Given the description of an element on the screen output the (x, y) to click on. 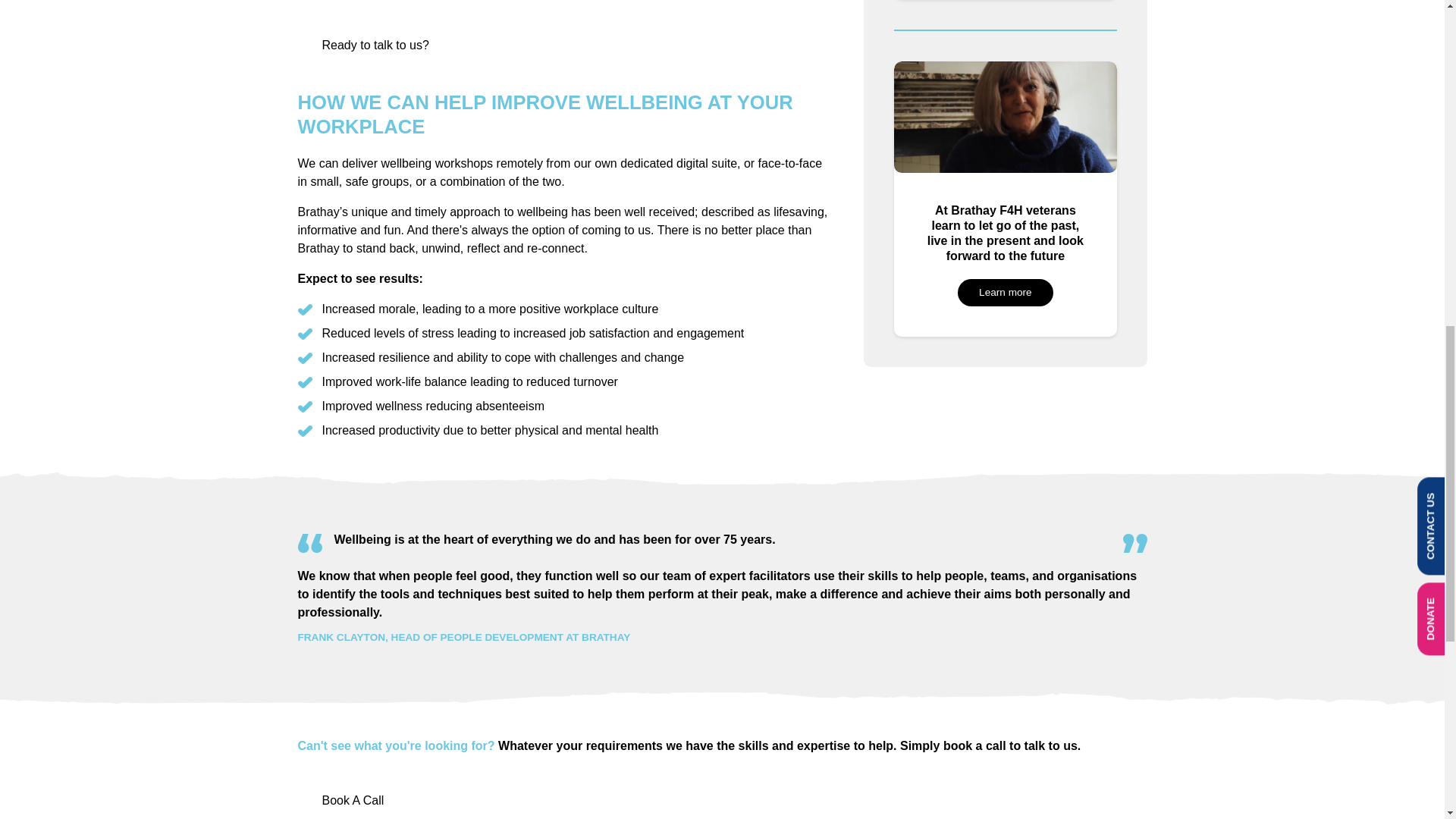
Book A Call (352, 800)
Learn more (1005, 292)
Ready to talk to us? (374, 45)
